Given the description of an element on the screen output the (x, y) to click on. 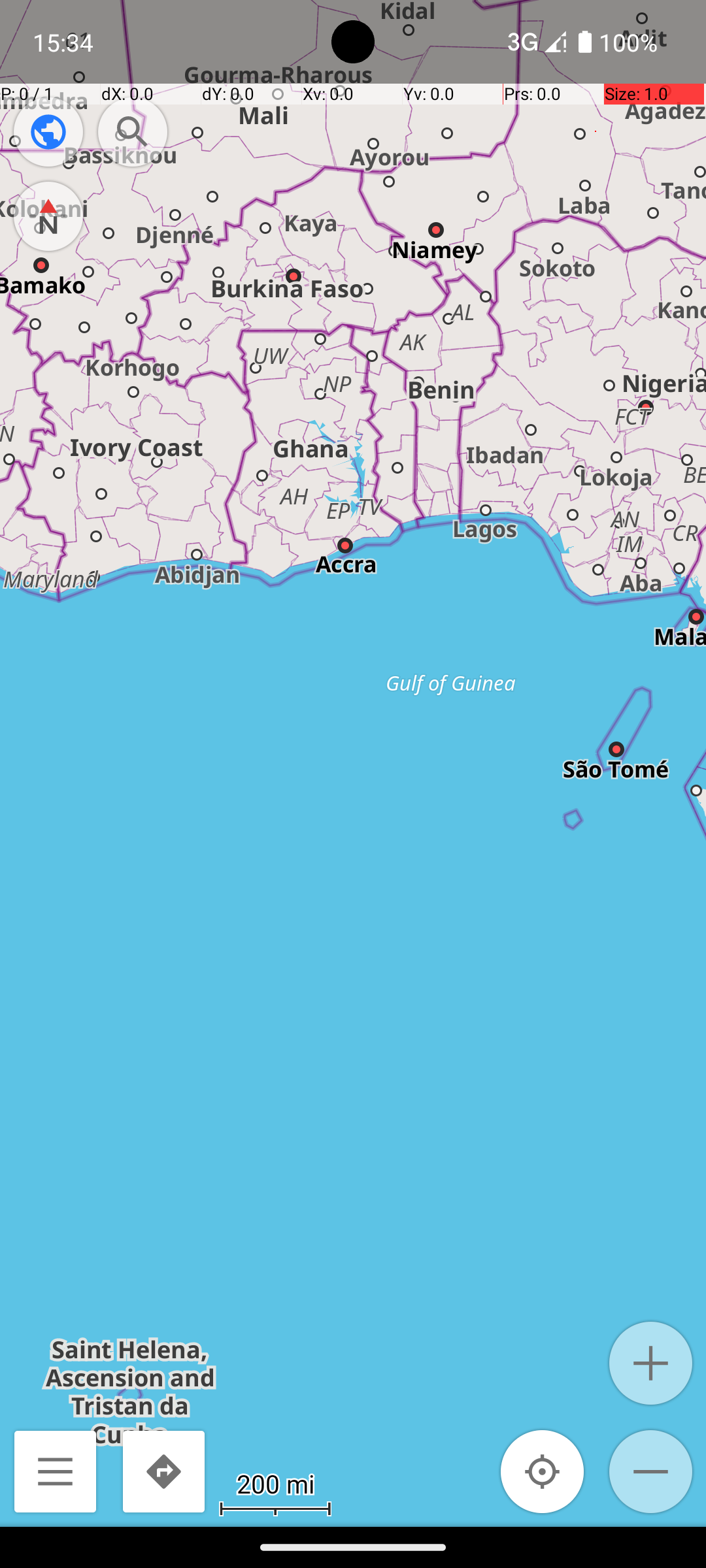
Configure map Element type: android.widget.ImageButton (48, 131)
Back to menu Element type: android.widget.ImageButton (55, 1471)
Route Element type: android.widget.ImageButton (163, 1471)
200 mi Element type: android.widget.TextView (274, 1483)
Position not yet known. Element type: android.widget.ImageButton (542, 1471)
Zoom in Element type: android.widget.ImageButton (650, 1362)
Zoom out Element type: android.widget.ImageButton (650, 1471)
